Given the description of an element on the screen output the (x, y) to click on. 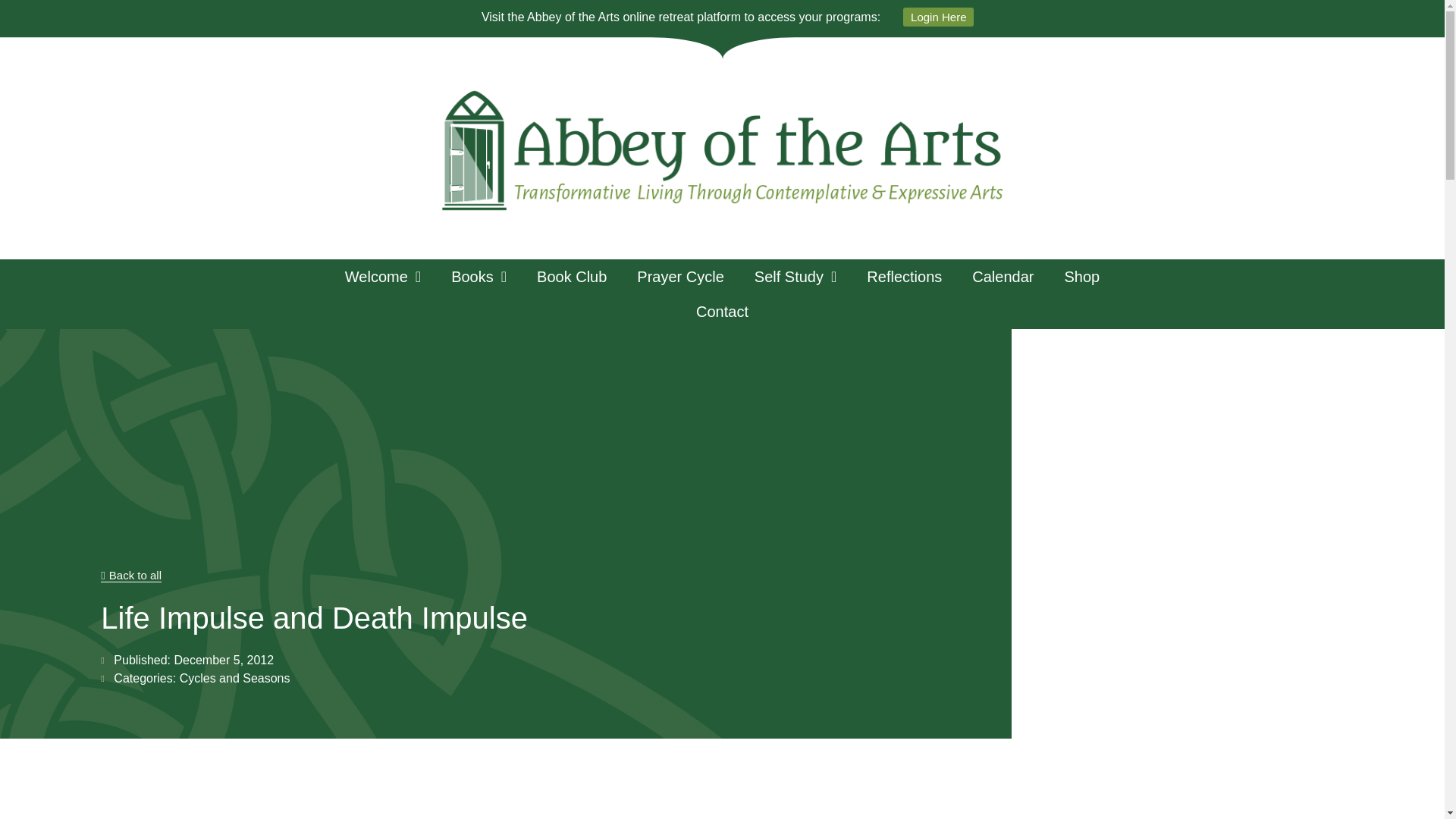
Login Here (938, 16)
Welcome (382, 276)
Books (478, 276)
